Given the description of an element on the screen output the (x, y) to click on. 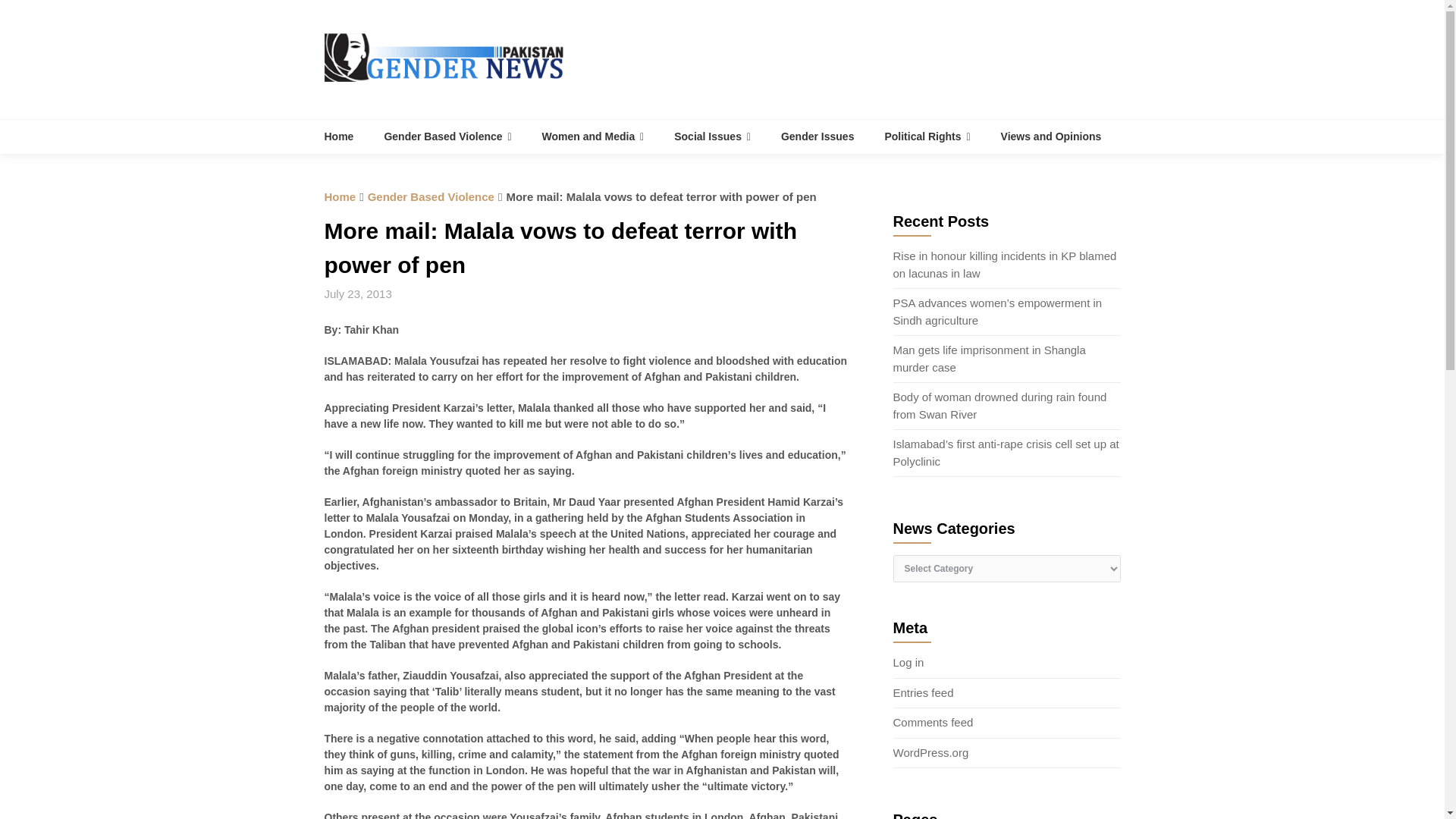
Social Issues (712, 136)
Women and Media (593, 136)
Gender Based Violence (446, 136)
Home (340, 196)
Log in (908, 662)
Social Issues (712, 136)
Home (346, 136)
Gender Based Violence (431, 196)
Views and Opinions (1050, 136)
Gender Issues (817, 136)
Political Rights (927, 136)
Women and Media (593, 136)
Man gets life imprisonment in Shangla murder case (989, 358)
Gender Issues (817, 136)
Pakistan Gender News (346, 136)
